Given the description of an element on the screen output the (x, y) to click on. 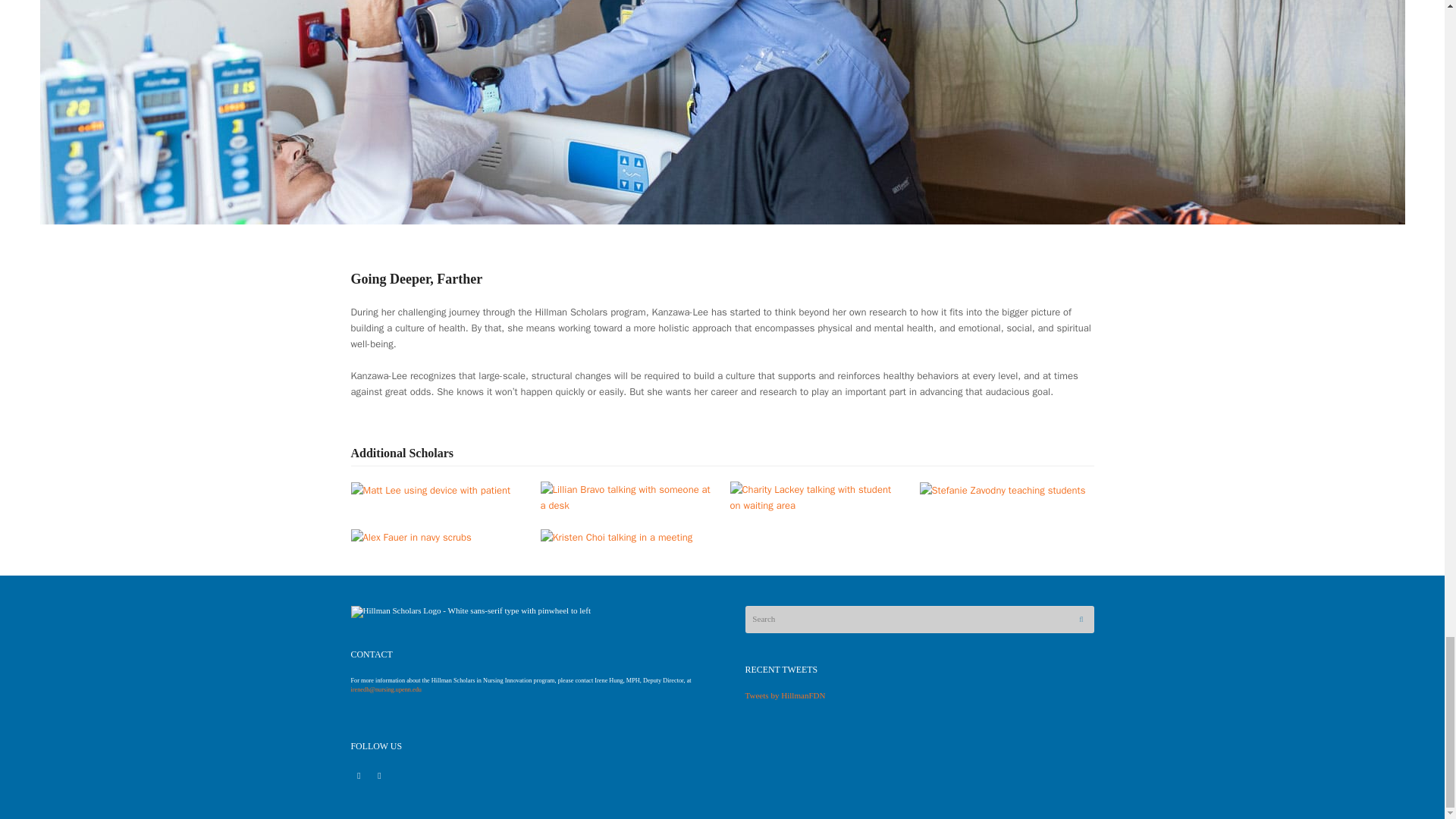
LinkedIn (358, 776)
Kristen Choi (616, 535)
LinkedIn (358, 776)
Lilian Bravo (627, 495)
Tweets by HillmanFDN (784, 695)
Alex Fauer (410, 535)
Twitter (379, 776)
Charity Lackey (816, 495)
Stefanie Zavodny (1001, 489)
Twitter (379, 776)
Submit (1080, 619)
Matthew Lee (430, 489)
